Given the description of an element on the screen output the (x, y) to click on. 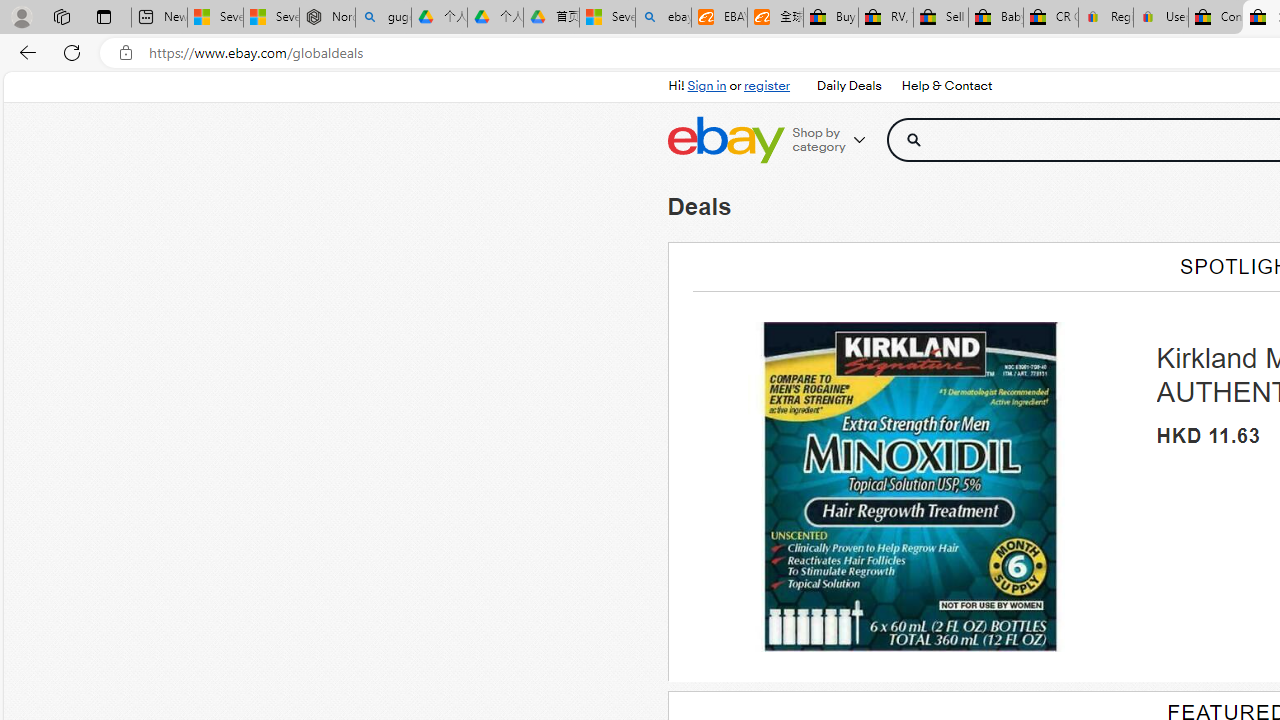
View site information (125, 53)
Consumer Health Data Privacy Policy - eBay Inc. (1215, 17)
ebay - Search (663, 17)
Shop by category (836, 140)
Baby Keepsakes & Announcements for sale | eBay (995, 17)
Help & Contact (947, 86)
Sign in (707, 85)
Buy Auto Parts & Accessories | eBay (830, 17)
